Given the description of an element on the screen output the (x, y) to click on. 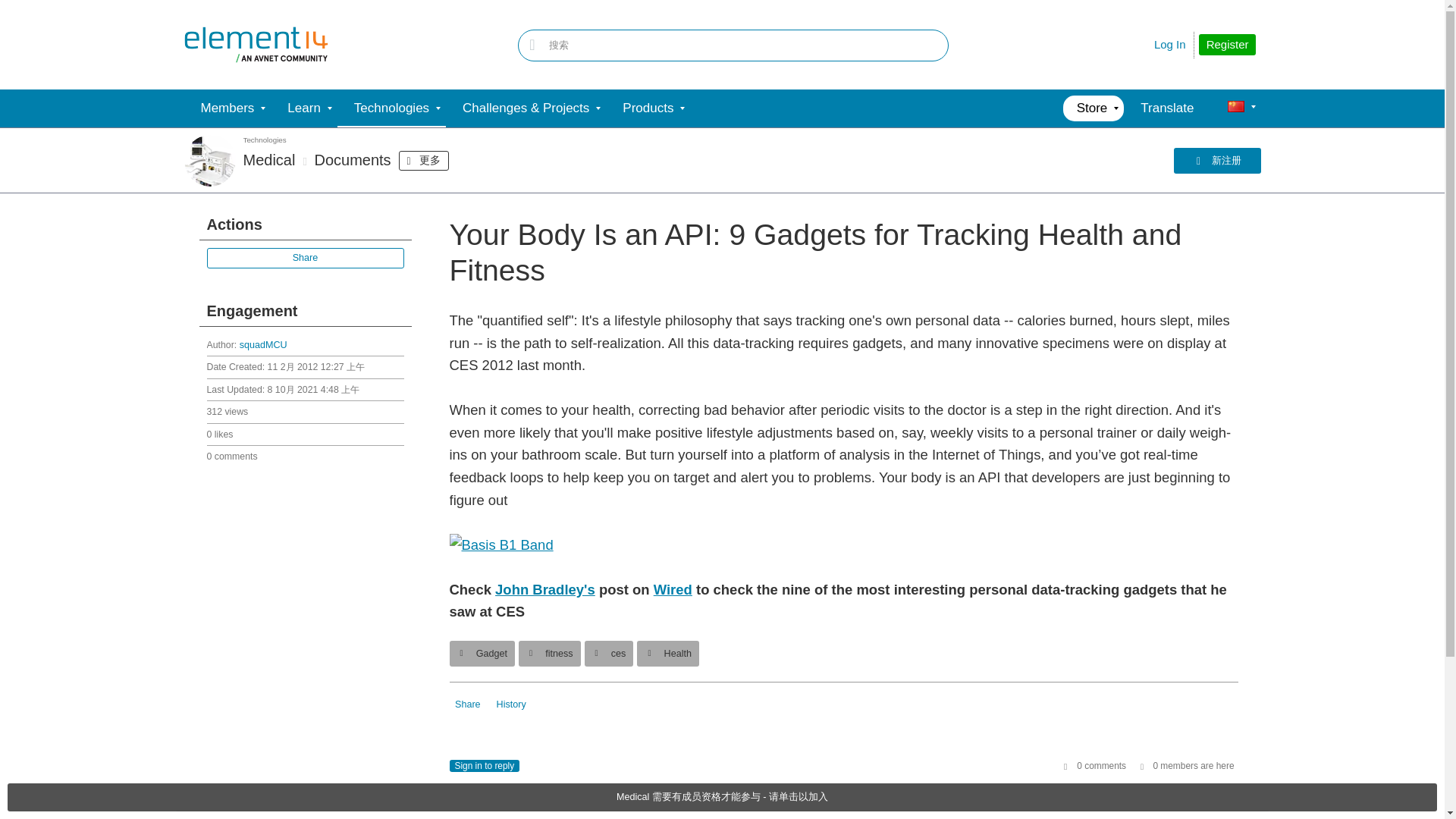
Register (1226, 44)
Register (1226, 44)
Log In (1170, 44)
Members (226, 108)
Log In (1170, 44)
Technologies (391, 108)
Posts by John Bradley (545, 589)
Learn (303, 108)
